Given the description of an element on the screen output the (x, y) to click on. 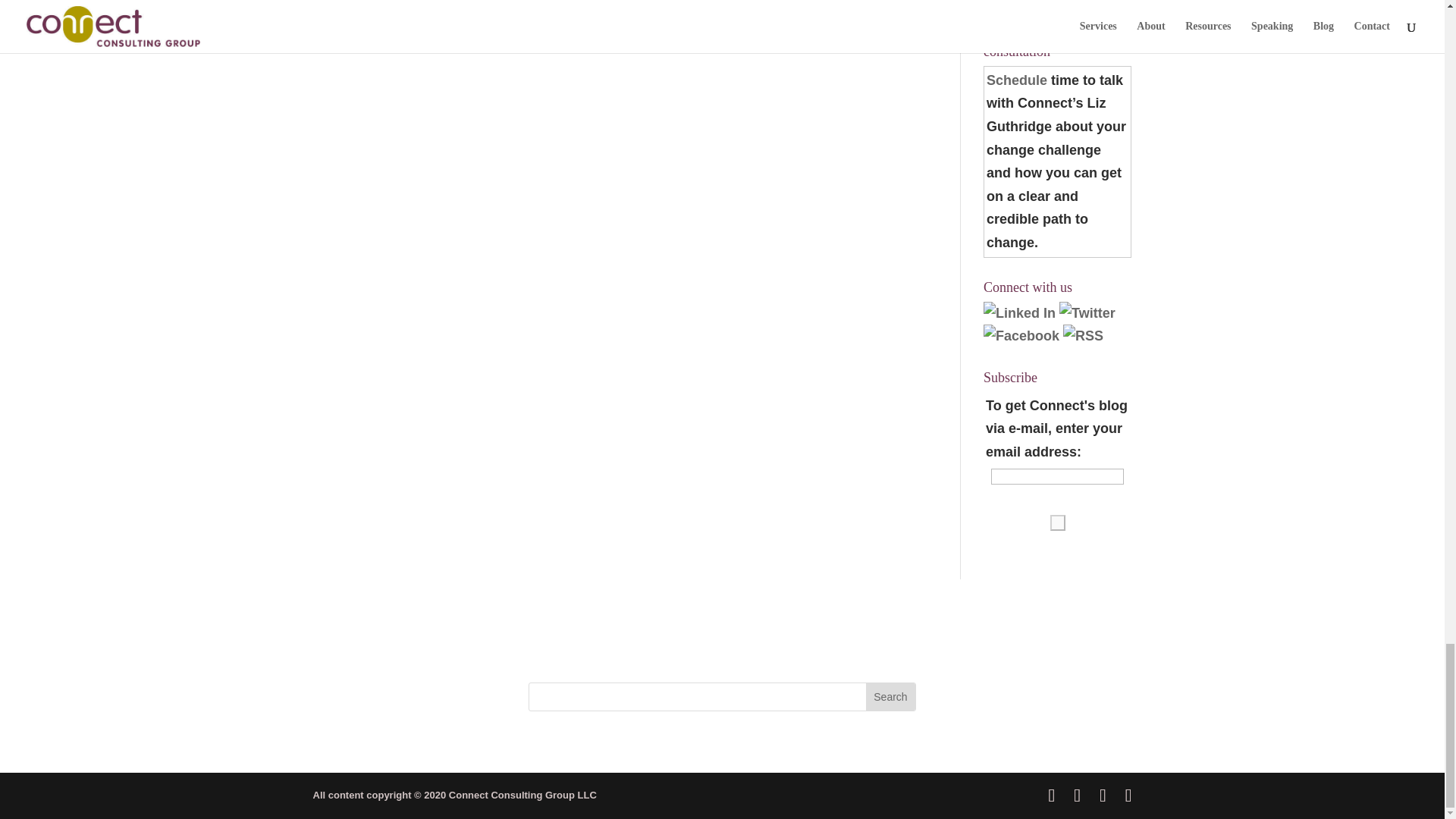
Schedule (1016, 79)
Search (890, 696)
Search (890, 696)
